Given the description of an element on the screen output the (x, y) to click on. 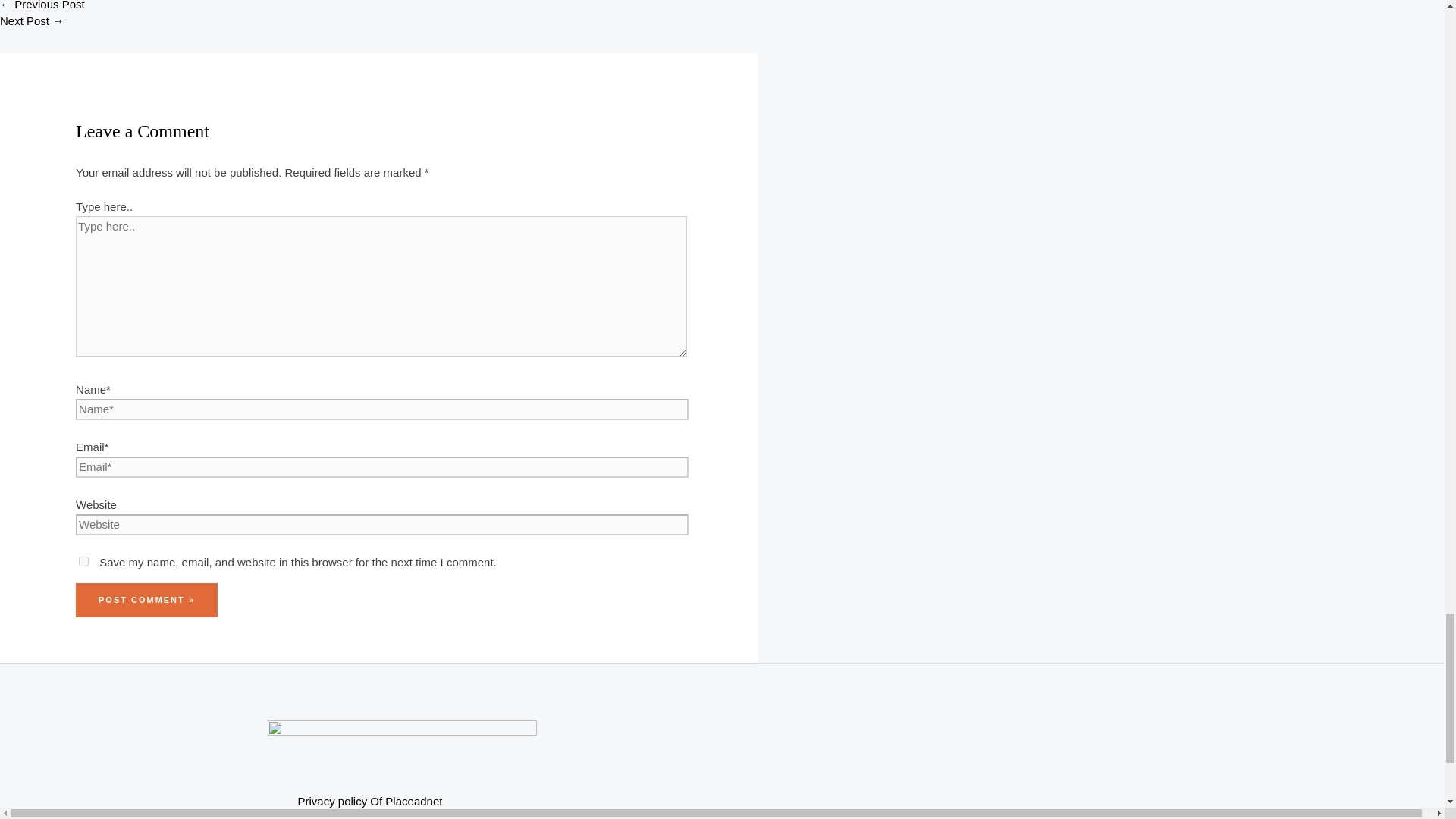
Privacy policy Of Placeadnet (736, 801)
yes (83, 561)
